Given the description of an element on the screen output the (x, y) to click on. 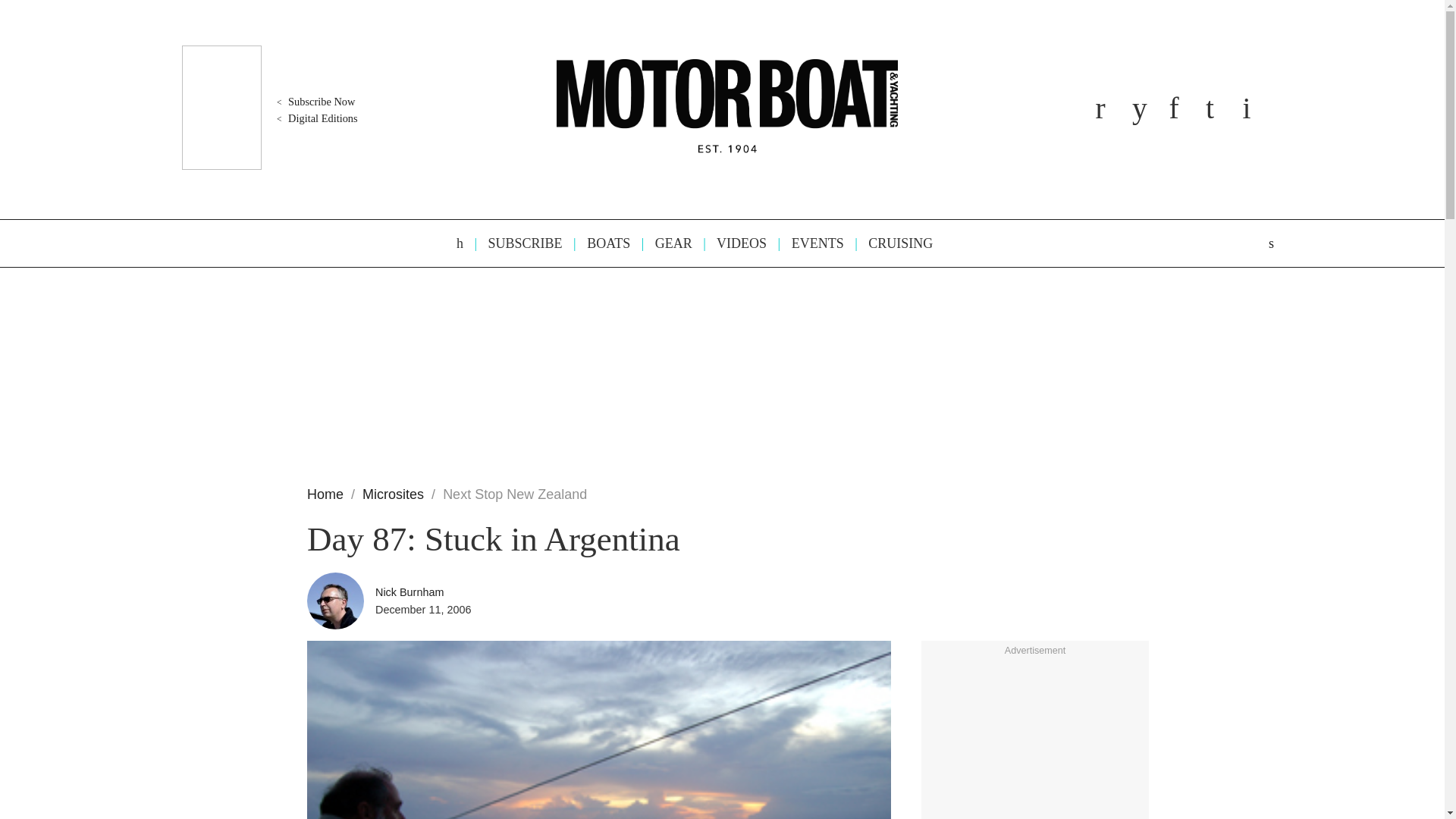
CRUISING (893, 243)
GEAR (666, 243)
EVENTS (810, 243)
Subscribe Now (314, 101)
SUBSCRIBE (518, 243)
Digital Editions (315, 118)
BOATS (601, 243)
VIDEOS (734, 243)
